Given the description of an element on the screen output the (x, y) to click on. 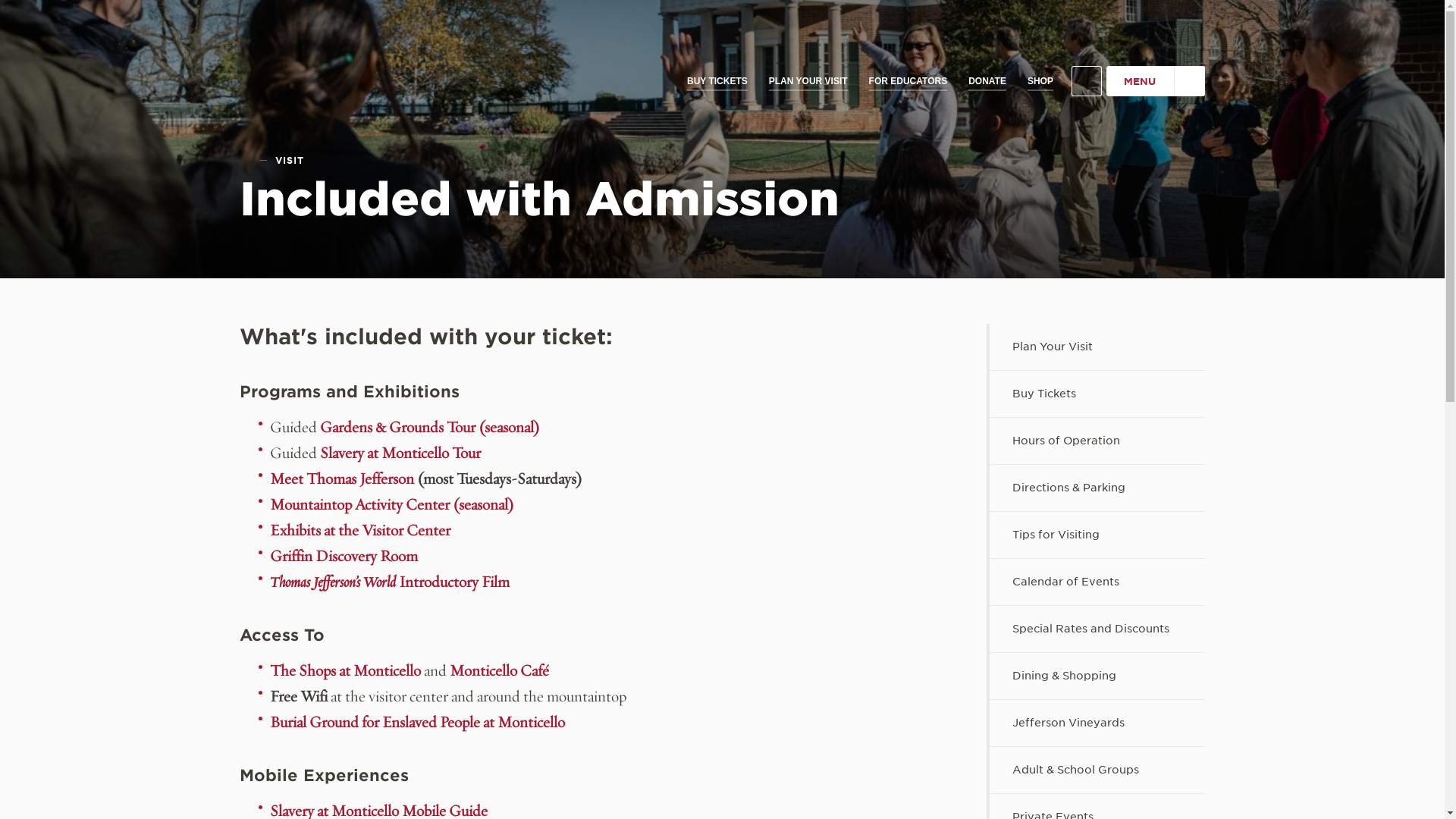
Jefferson Vineyards (1097, 723)
FOR EDUCATORS (908, 81)
Thomas Jefferson's Monticello (355, 63)
Griffin Discovery Room (343, 556)
SHOP (1040, 81)
Search (1086, 81)
Special Rates and Discounts (1097, 628)
Private Events (1097, 806)
Hours of Operation (1097, 440)
The Shops at Monticello (344, 670)
Home (246, 159)
DONATE (987, 81)
Plan Your Visit (1097, 346)
VISIT (289, 160)
Slavery at Monticello Mobile Guide (378, 809)
